Given the description of an element on the screen output the (x, y) to click on. 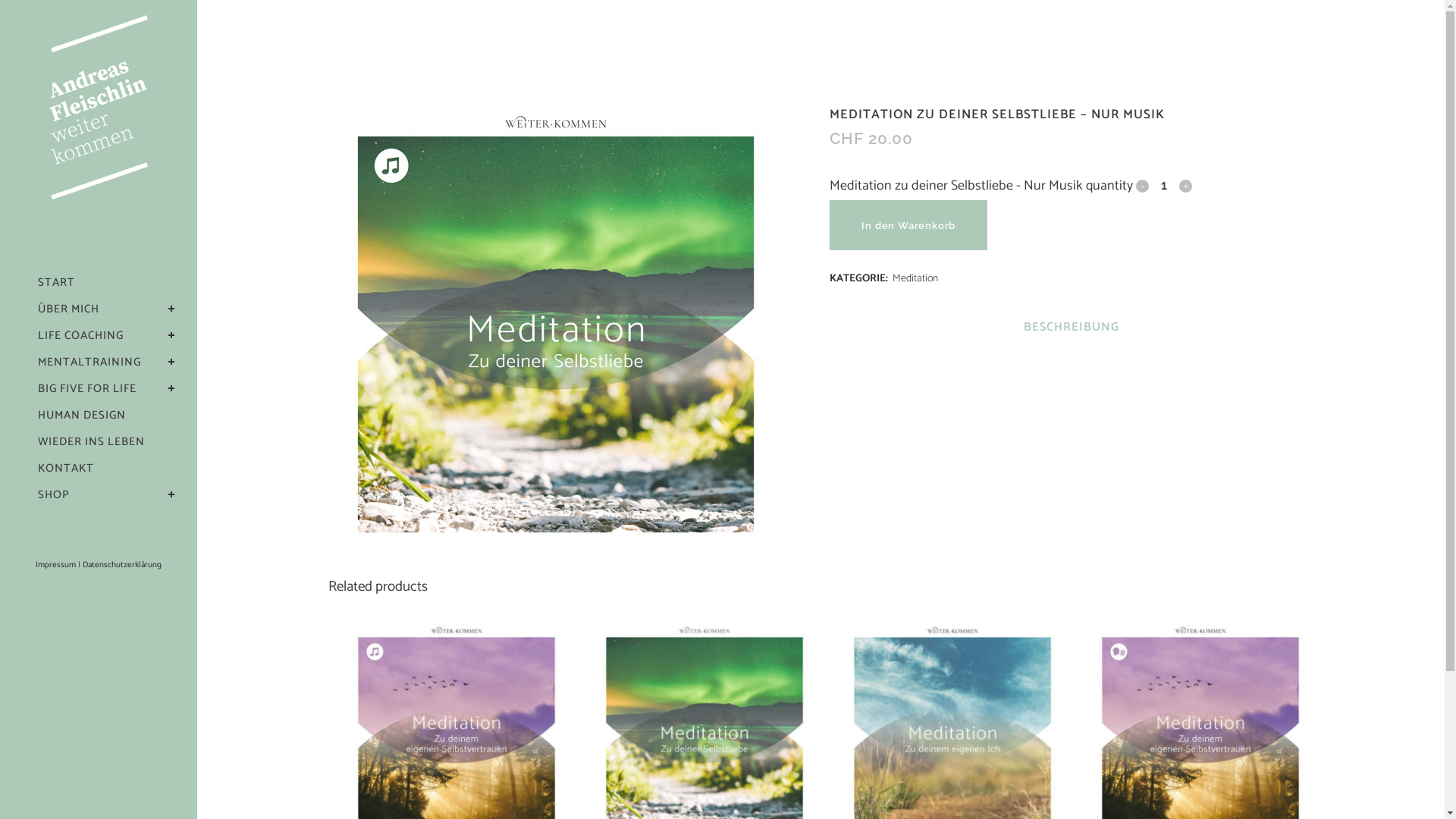
KONTAKT Element type: text (105, 468)
SHOP Element type: text (105, 494)
In den Warenkorb Element type: text (908, 225)
Impressum Element type: text (55, 564)
LIFE COACHING Element type: text (105, 335)
BIG FIVE FOR LIFE Element type: text (105, 388)
MP3-Cover_Sbstlb_instr Element type: hover (554, 333)
HUMAN DESIGN Element type: text (105, 414)
START Element type: text (105, 282)
MENTALTRAINING Element type: text (105, 361)
WIEDER INS LEBEN Element type: text (105, 441)
Meditation Element type: text (915, 278)
